Given the description of an element on the screen output the (x, y) to click on. 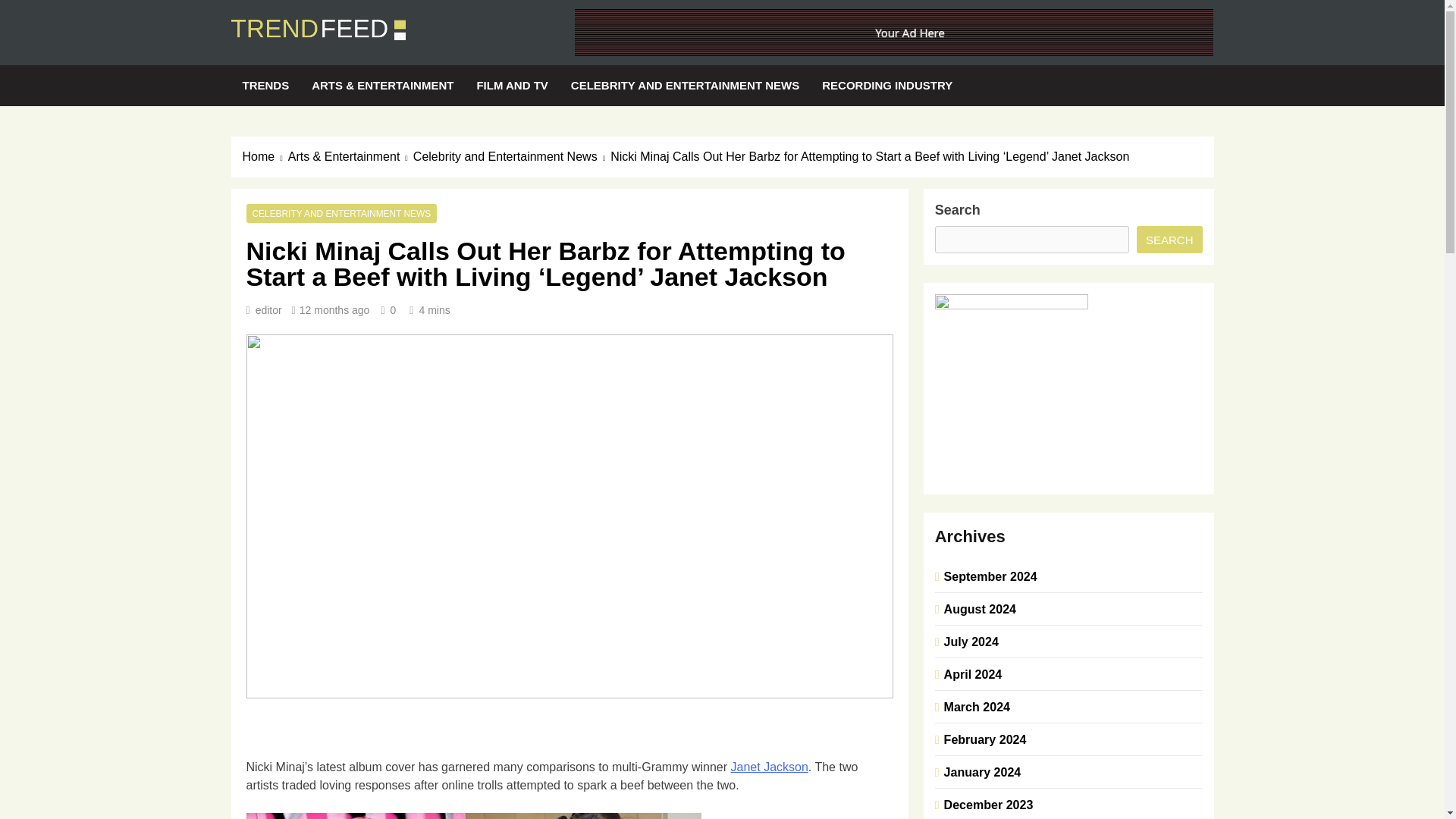
CELEBRITY AND ENTERTAINMENT NEWS (340, 213)
FILM AND TV (511, 85)
Celebrity and Entertainment News (511, 157)
editor (269, 309)
RECORDING INDUSTRY (886, 85)
Janet Jackson (769, 766)
12 months ago (334, 309)
TRENDFEED (333, 62)
Home (265, 157)
TRENDS (264, 85)
